Given the description of an element on the screen output the (x, y) to click on. 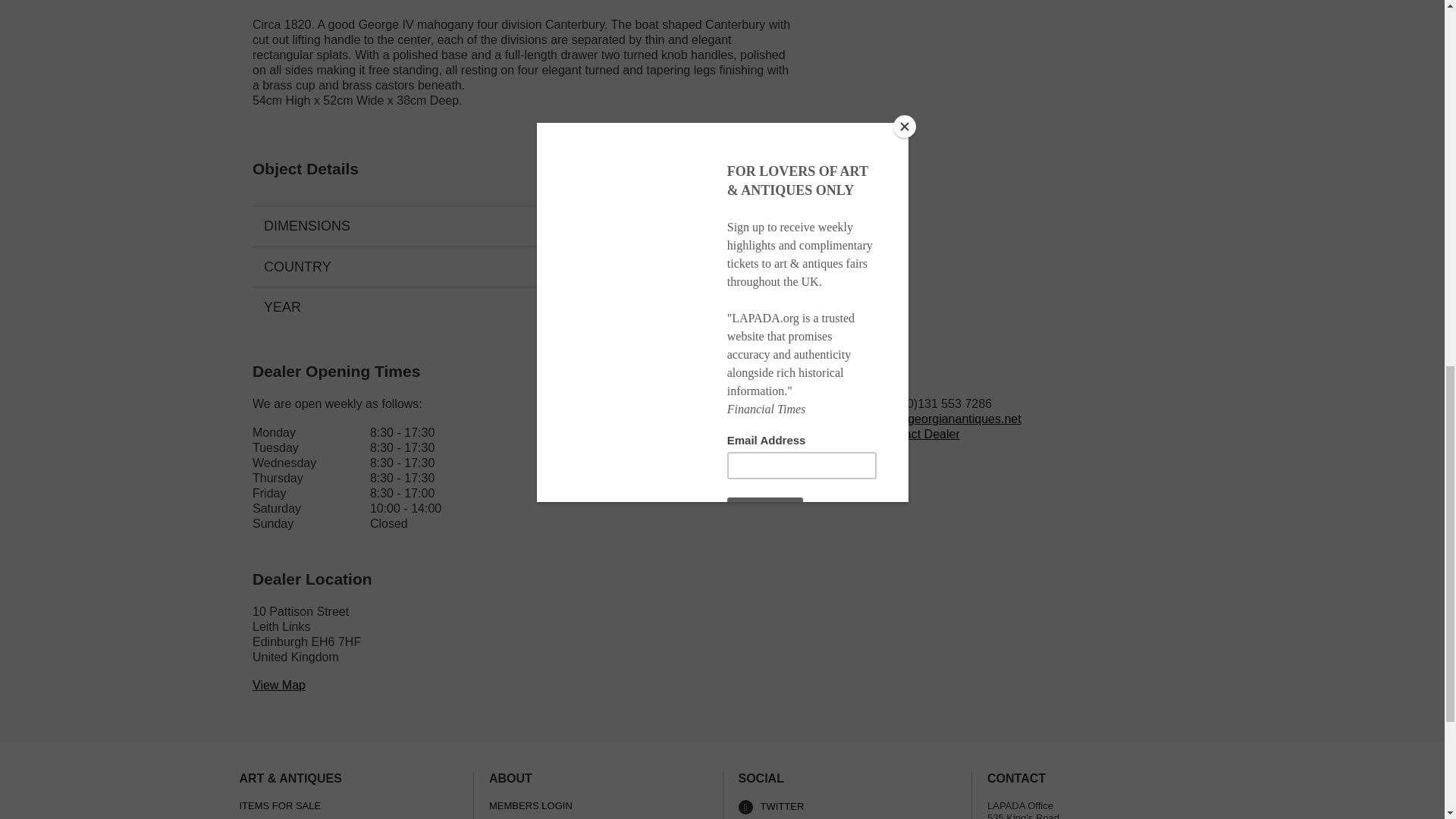
Follow us on Twitter (847, 807)
